Given the description of an element on the screen output the (x, y) to click on. 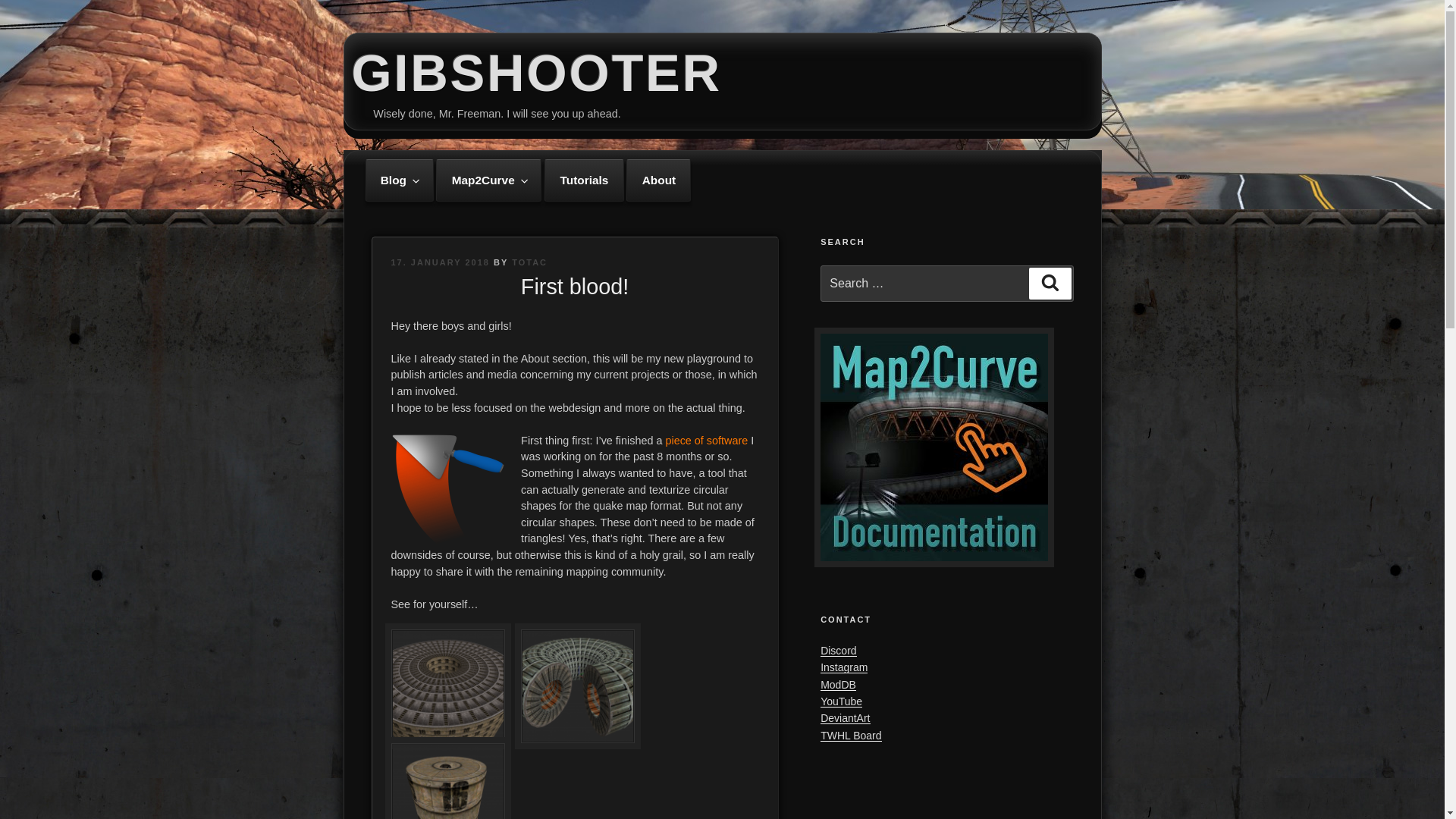
Blog (398, 179)
TOTAC (529, 261)
GIBSHOOTER (537, 72)
About (658, 179)
piece of software (706, 440)
Map2Curve (488, 179)
17. JANUARY 2018 (440, 261)
Tutorials (583, 179)
